Given the description of an element on the screen output the (x, y) to click on. 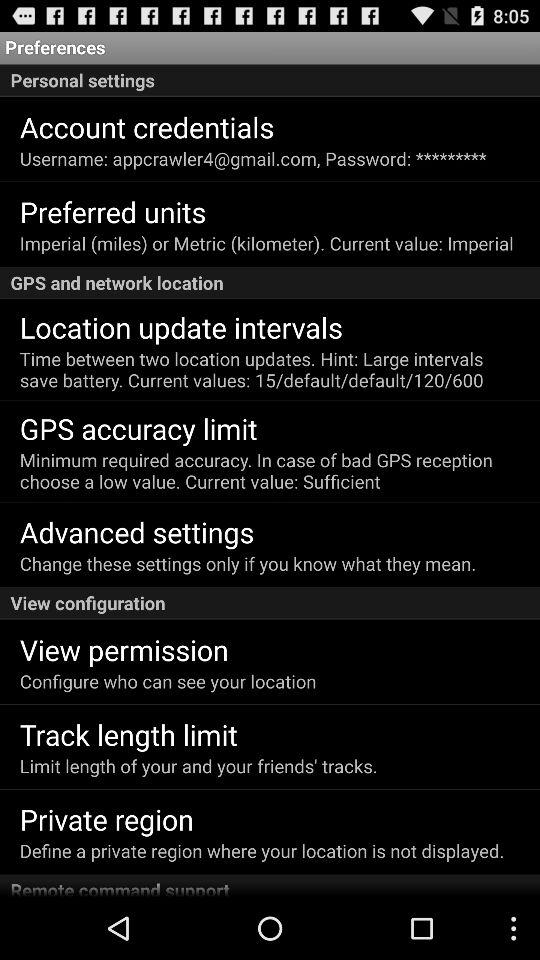
launch the icon below the advanced settings icon (247, 563)
